Given the description of an element on the screen output the (x, y) to click on. 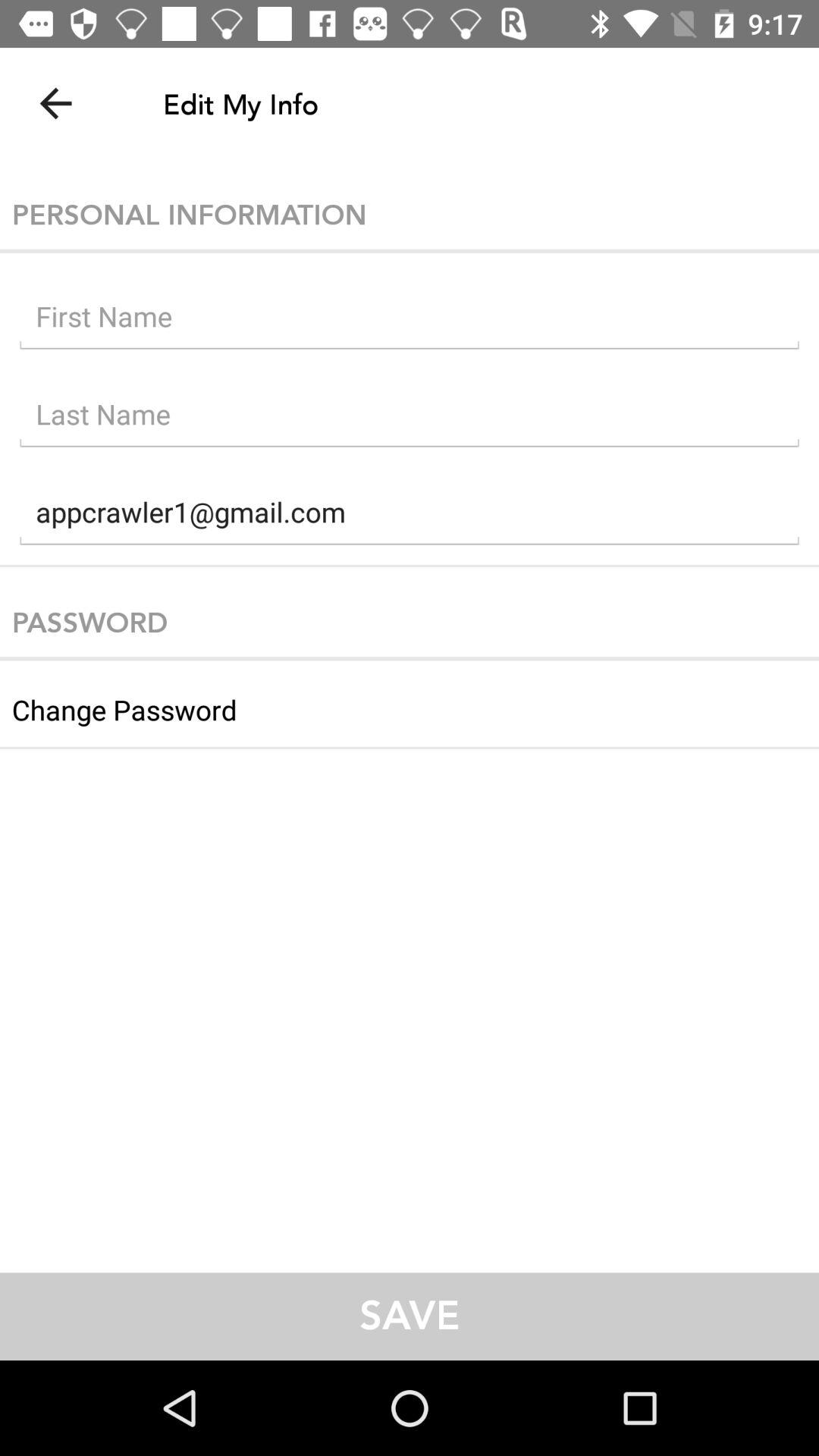
click the item at the top left corner (55, 103)
